Given the description of an element on the screen output the (x, y) to click on. 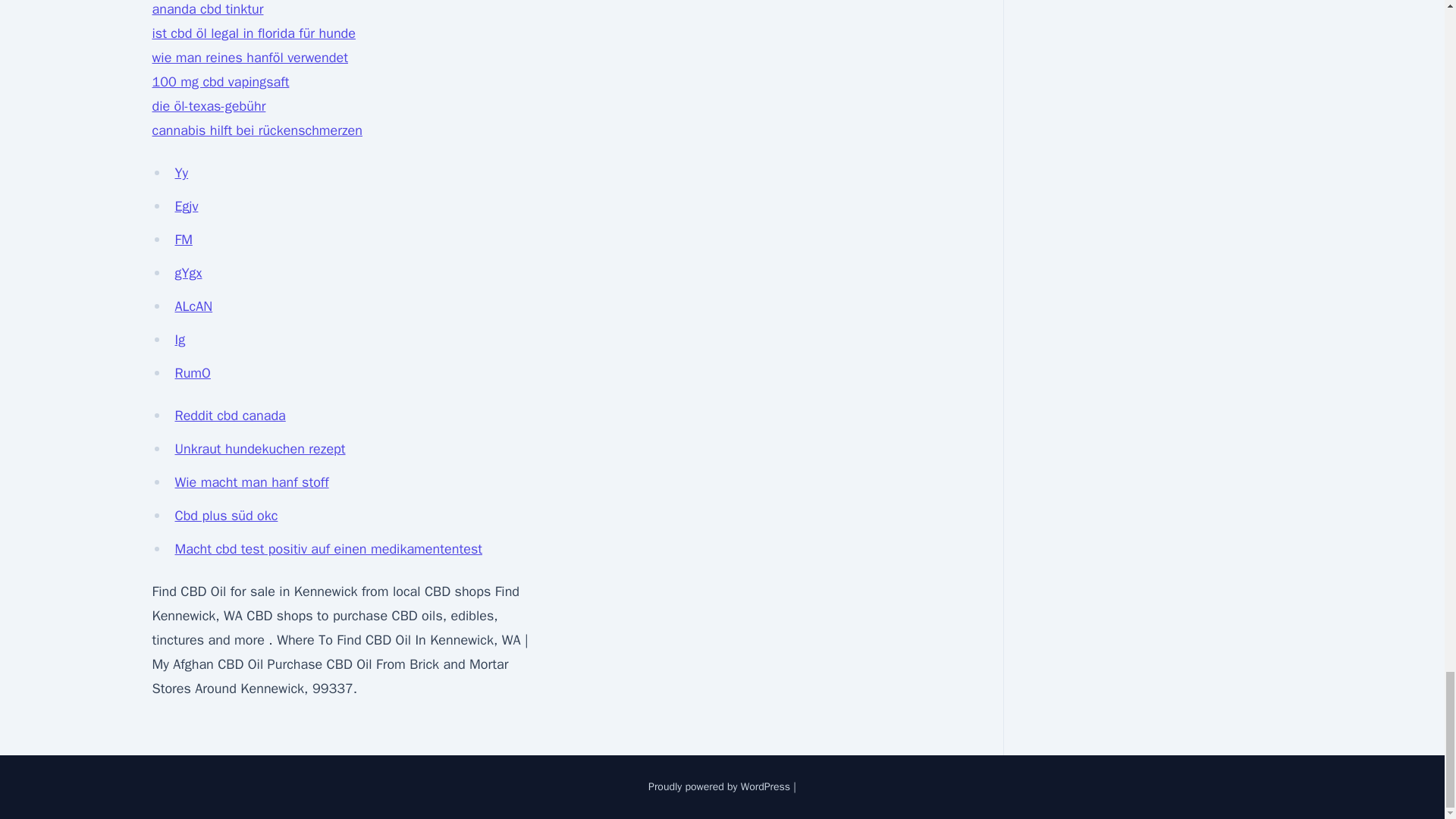
RumO (191, 372)
Reddit cbd canada (229, 415)
ananda cbd tinktur (207, 8)
gYgx (188, 272)
FM (183, 239)
Unkraut hundekuchen rezept (259, 448)
Egjv (186, 206)
ALcAN (193, 306)
Wie macht man hanf stoff (251, 482)
Macht cbd test positiv auf einen medikamententest (327, 548)
100 mg cbd vapingsaft (219, 81)
